Given the description of an element on the screen output the (x, y) to click on. 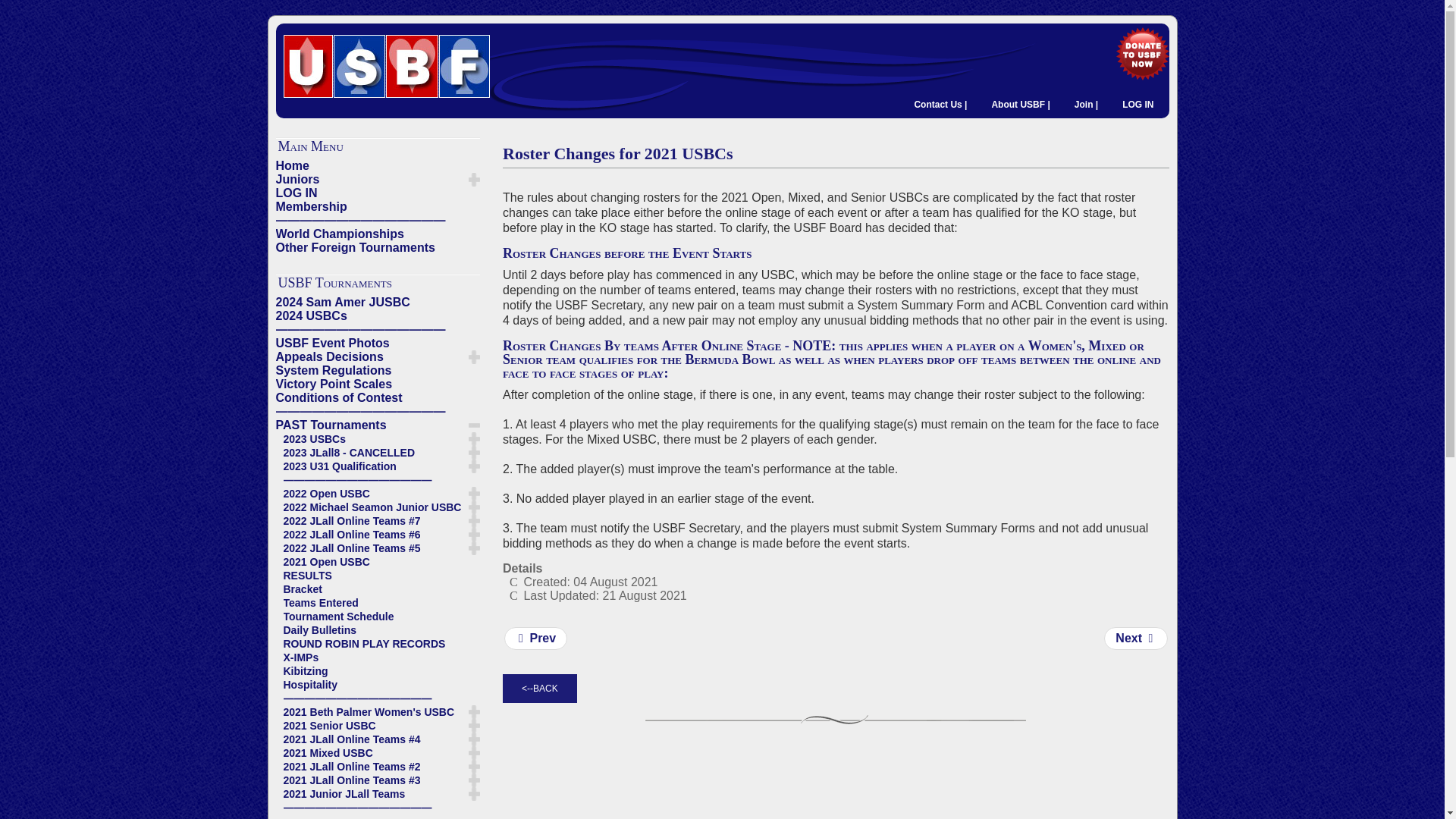
Home (378, 165)
System Regulations (378, 370)
Victory Point Scales (378, 384)
Juniors (372, 179)
LOG IN (1137, 104)
LOG IN (378, 192)
Other Foreign Tournaments (378, 247)
World Championships (378, 233)
Conditions of Contest (378, 397)
2023 USBCs (381, 438)
